Given the description of an element on the screen output the (x, y) to click on. 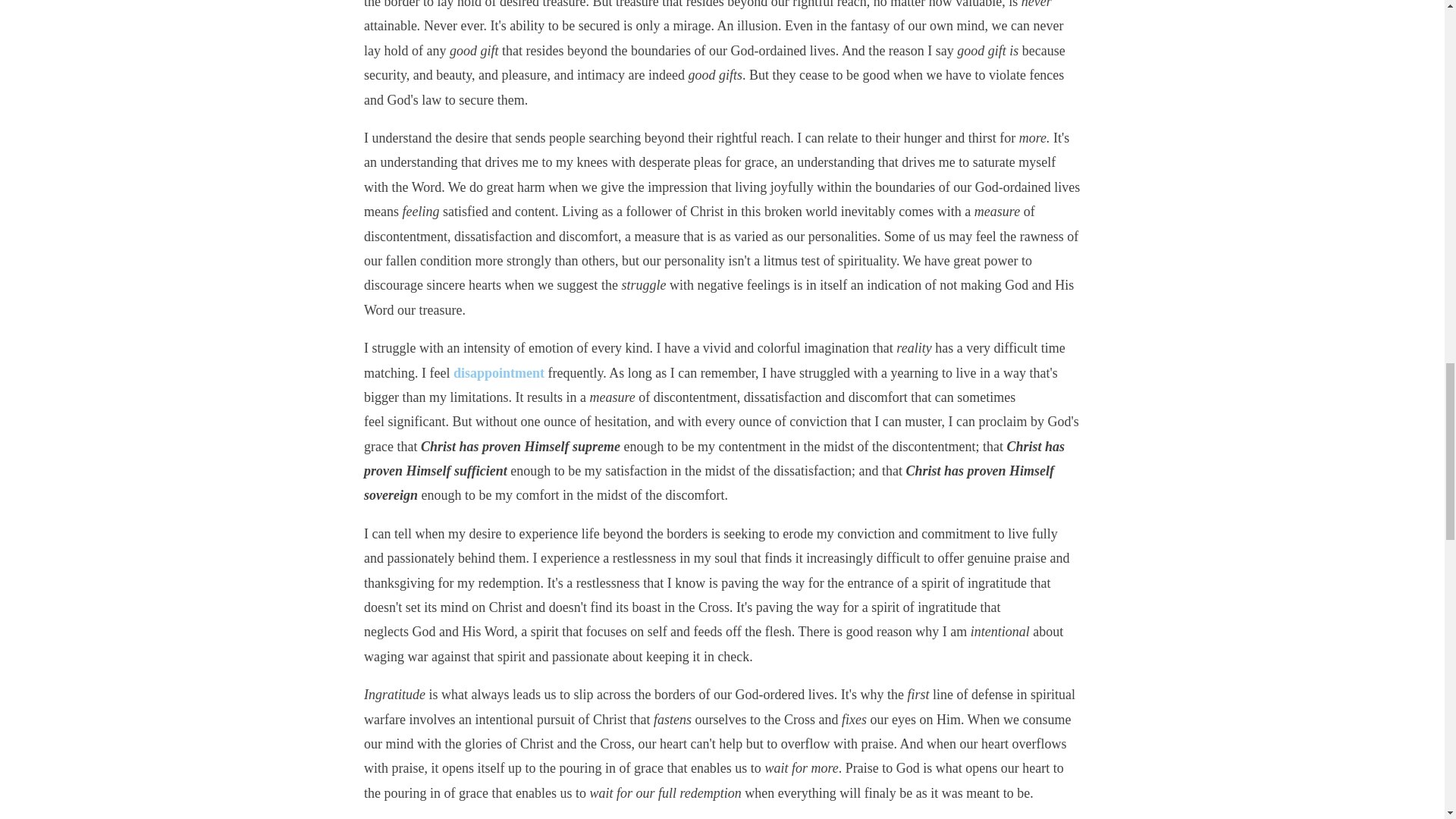
disappointment (498, 373)
